Given the description of an element on the screen output the (x, y) to click on. 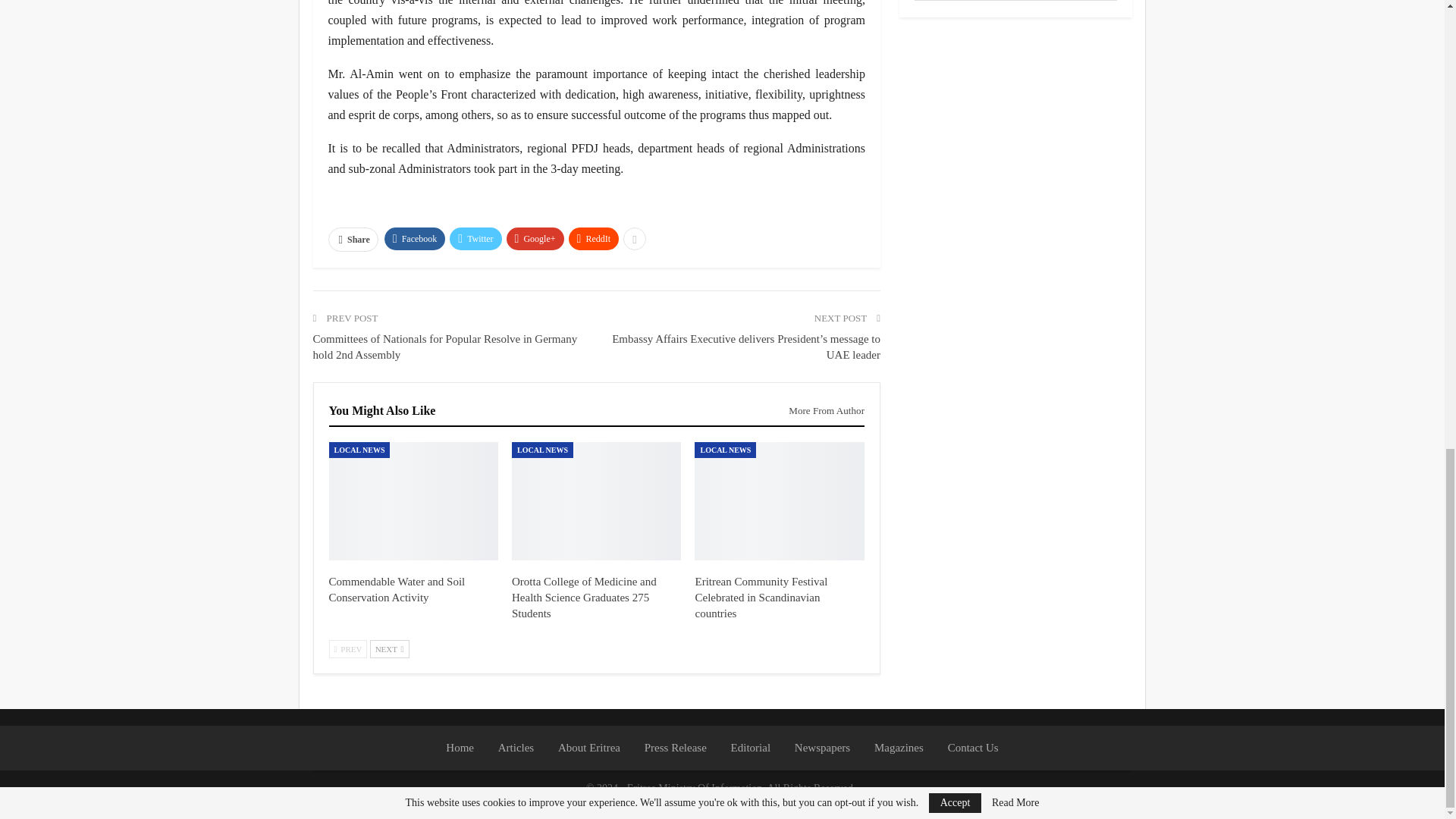
Next (389, 648)
Previous (348, 648)
Commendable Water and Soil Conservation Activity (413, 501)
Commendable Water and Soil Conservation Activity (397, 589)
